Given the description of an element on the screen output the (x, y) to click on. 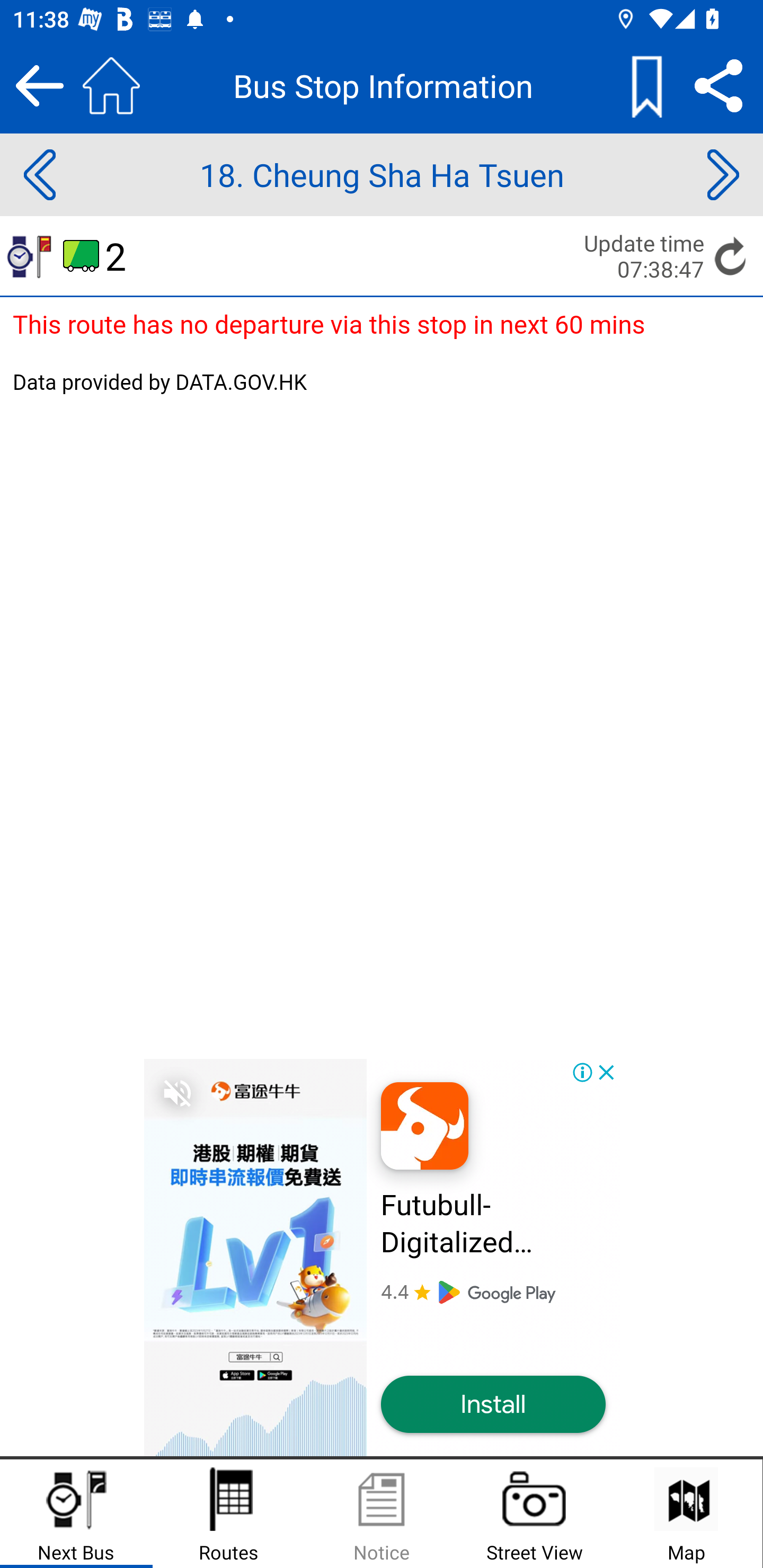
Jump to home page (111, 85)
Add bookmark (646, 85)
Share point to point route search criteria) (718, 85)
Back (39, 85)
Previous stop (39, 174)
Next stop (723, 174)
Refresh (731, 255)
Install (492, 1404)
Next Bus (76, 1513)
Routes (228, 1513)
Notice (381, 1513)
Street View (533, 1513)
Map (686, 1513)
